Given the description of an element on the screen output the (x, y) to click on. 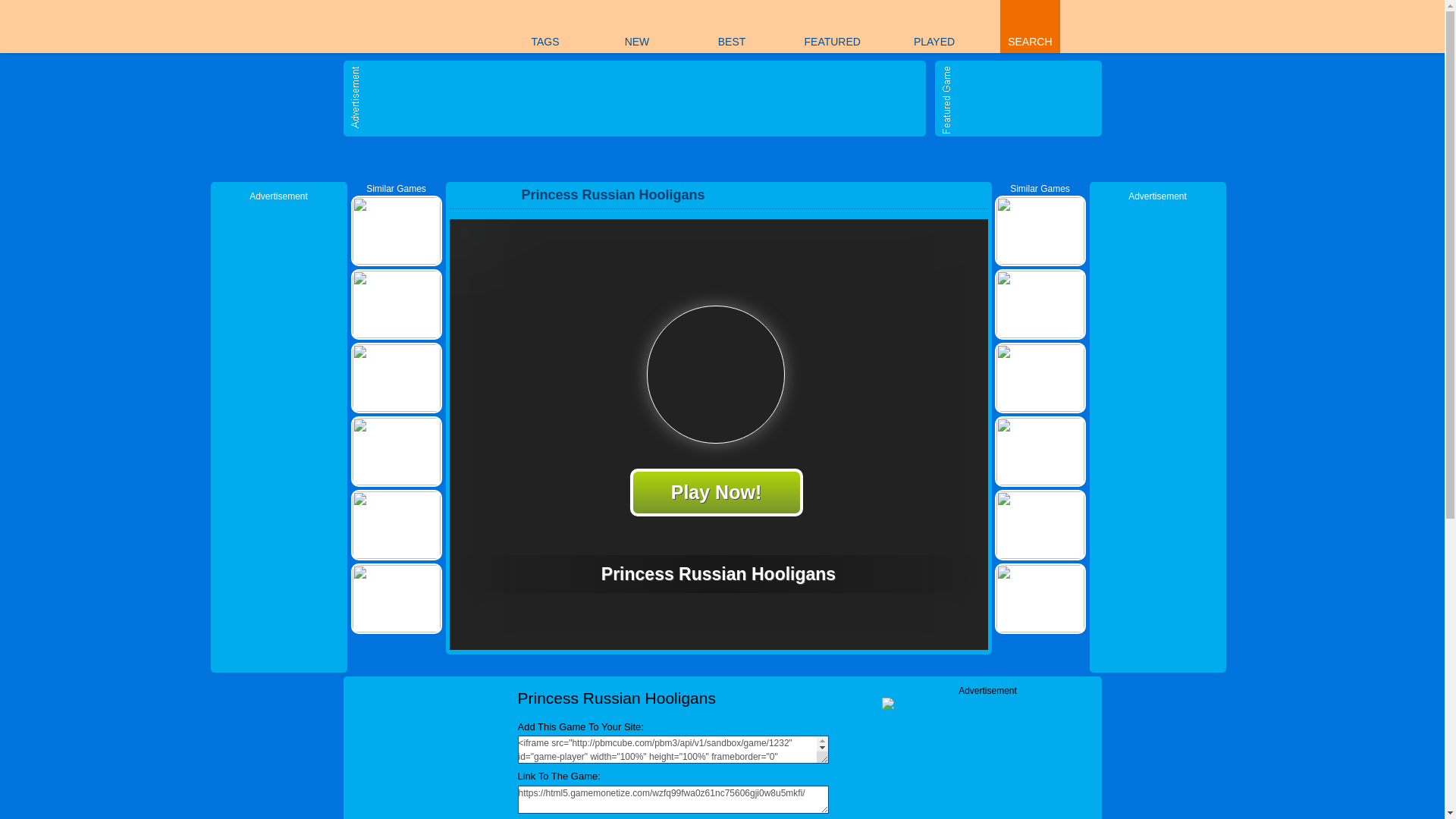
Neon Splash (809, 159)
Real Impossible Track 2 (853, 159)
Play Best Free Online Games (401, 25)
Dinosaurs Jurassic Survival World (544, 159)
Play game fullscreen (945, 194)
FZ Happy Halloween (764, 159)
Halloween Mask Coloring Book (676, 159)
Squirrel Hop (940, 159)
Rat Arena (413, 159)
Replay this game (969, 195)
BEST (731, 26)
Air Combat Slide (589, 159)
Cake Master 3D (1073, 159)
NEW (636, 26)
FEATURED (831, 26)
